Given the description of an element on the screen output the (x, y) to click on. 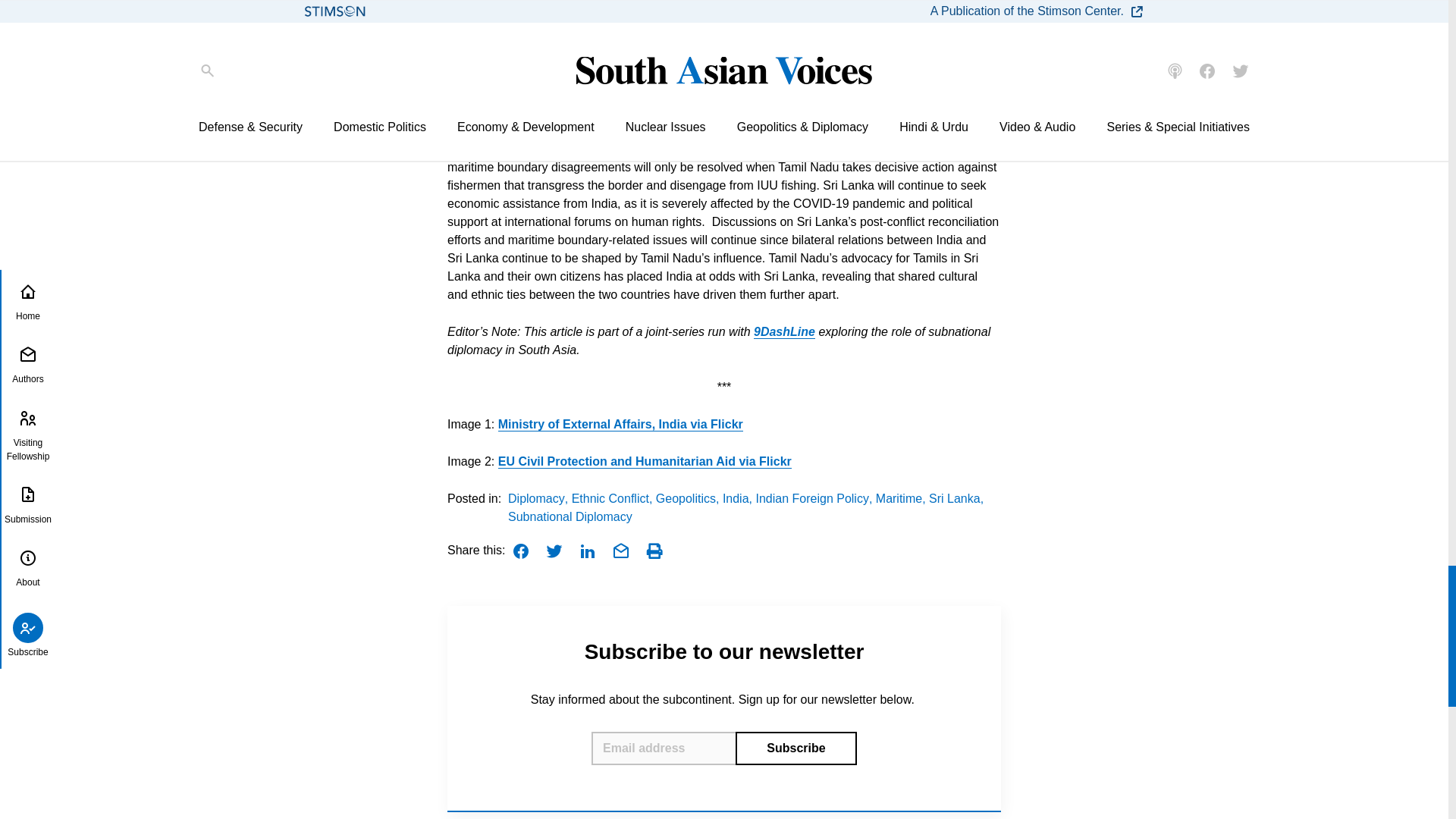
Send via email (620, 551)
Share at LinkedIn (587, 551)
Print it (654, 550)
Tweet It (553, 551)
Share at Facebook (520, 551)
